Given the description of an element on the screen output the (x, y) to click on. 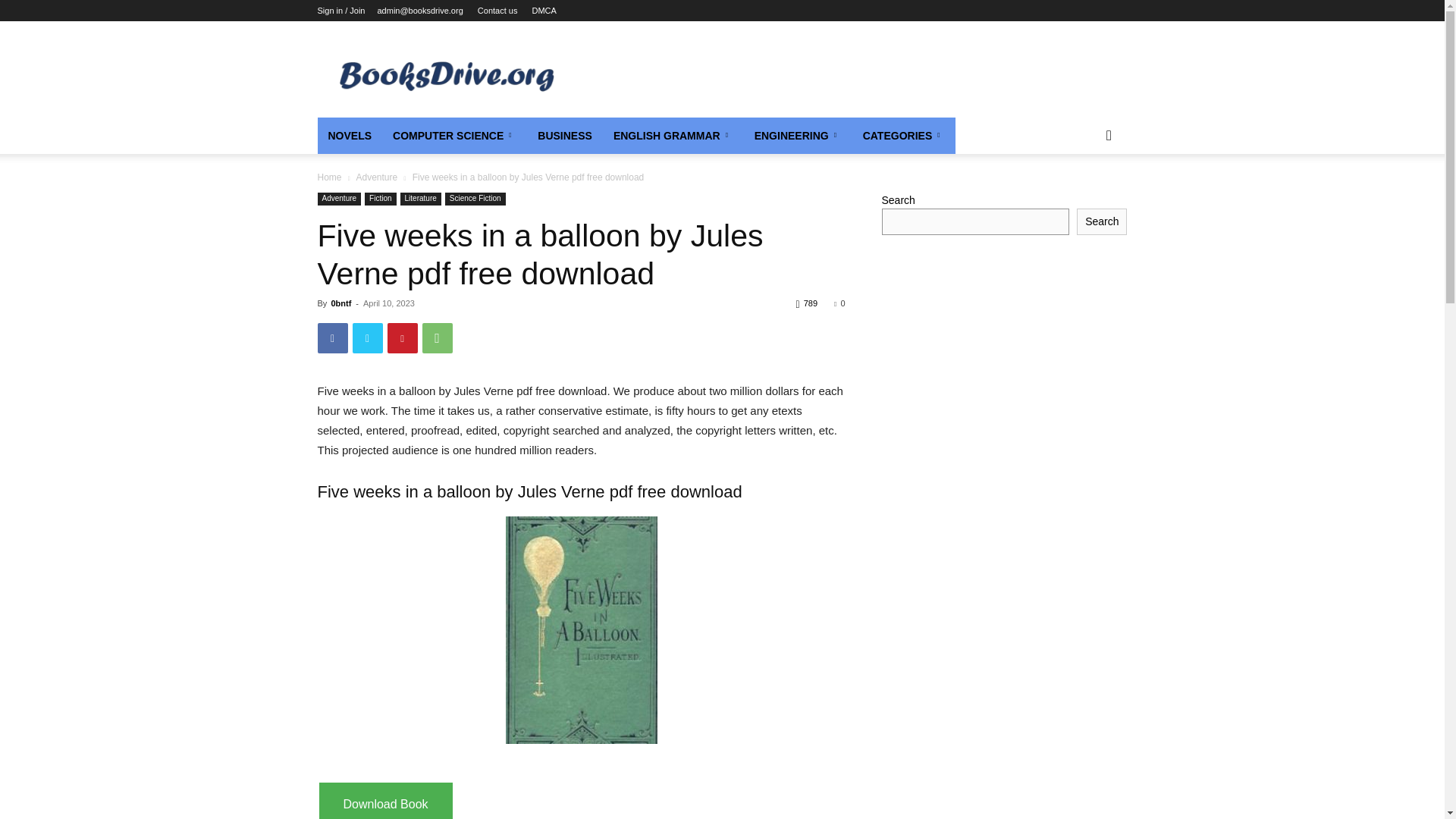
WhatsApp (436, 337)
Contact us (497, 10)
ENGLISH GRAMMAR (673, 135)
COMPUTER SCIENCE (454, 135)
CATEGORIES (903, 135)
ENGINEERING (797, 135)
BUSINESS (564, 135)
View all posts in Adventure (376, 176)
Facebook (332, 337)
Twitter (366, 337)
DMCA (543, 10)
Pinterest (401, 337)
NOVELS (349, 135)
